Given the description of an element on the screen output the (x, y) to click on. 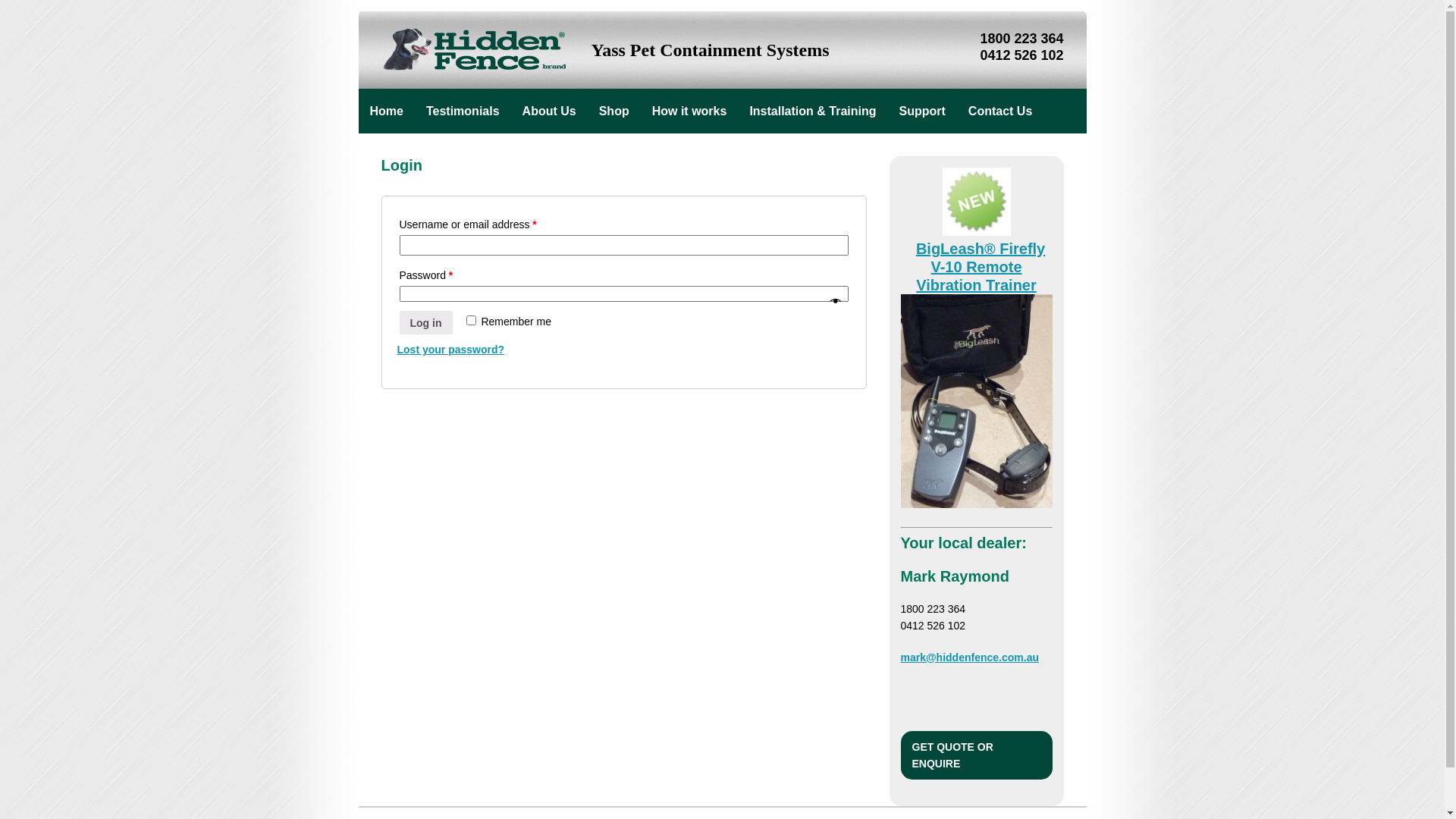
GET QUOTE OR ENQUIRE Element type: text (976, 755)
Contact Us Element type: text (1000, 110)
Lost your password? Element type: text (451, 349)
About Us Element type: text (549, 110)
Testimonials Element type: text (462, 110)
mark@hiddenfence.com.au Element type: text (969, 657)
Log in Element type: text (424, 322)
Shop Element type: text (613, 110)
Installation & Training Element type: text (812, 110)
Home Element type: text (385, 110)
Support Element type: text (921, 110)
How it works Element type: text (689, 110)
